Given the description of an element on the screen output the (x, y) to click on. 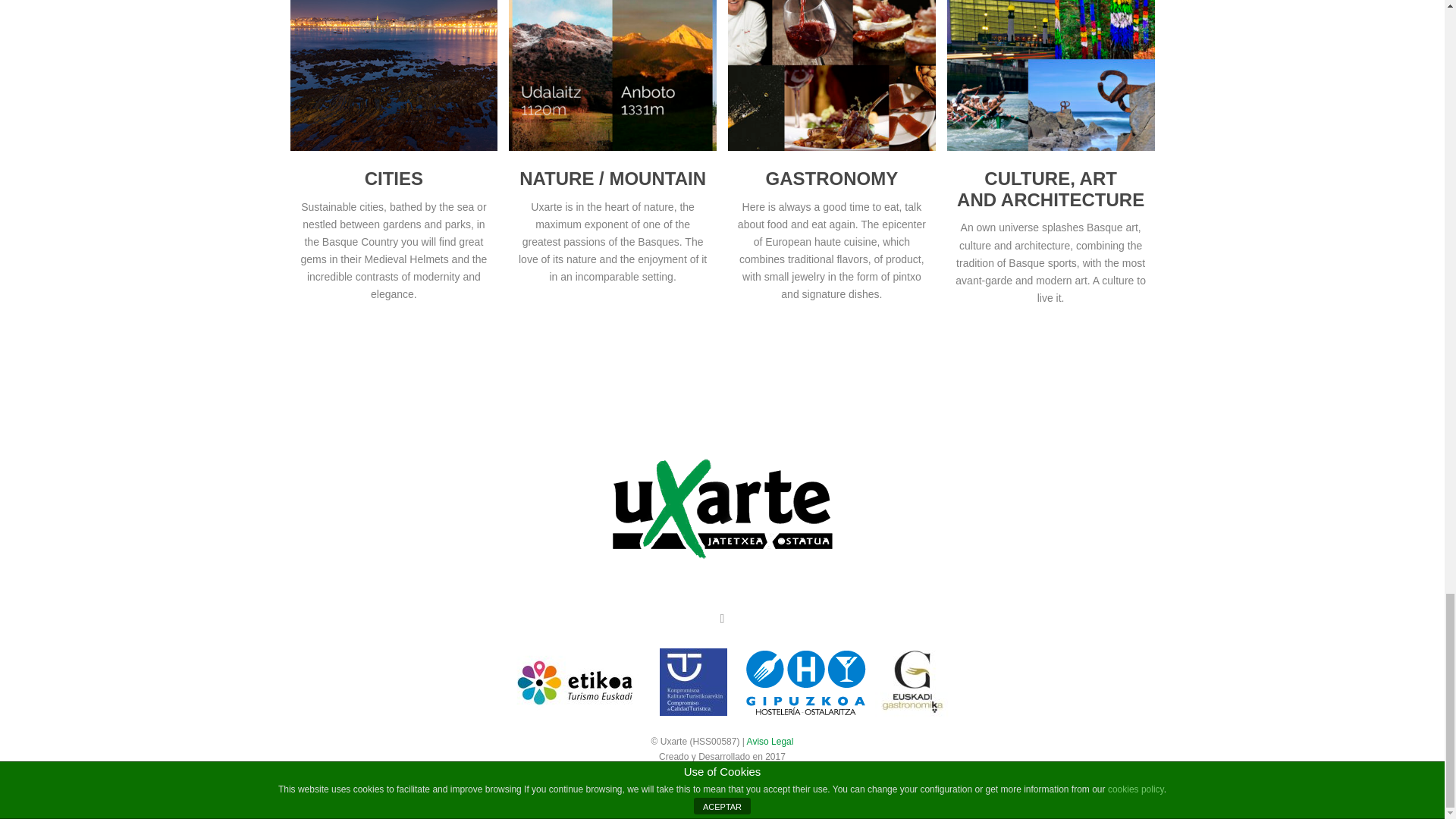
donostia (393, 75)
Aviso Legal (769, 741)
gastronomia-interior (832, 75)
naturaleza-interior (612, 75)
cultura-interior (1050, 75)
Instagram (722, 618)
